Given the description of an element on the screen output the (x, y) to click on. 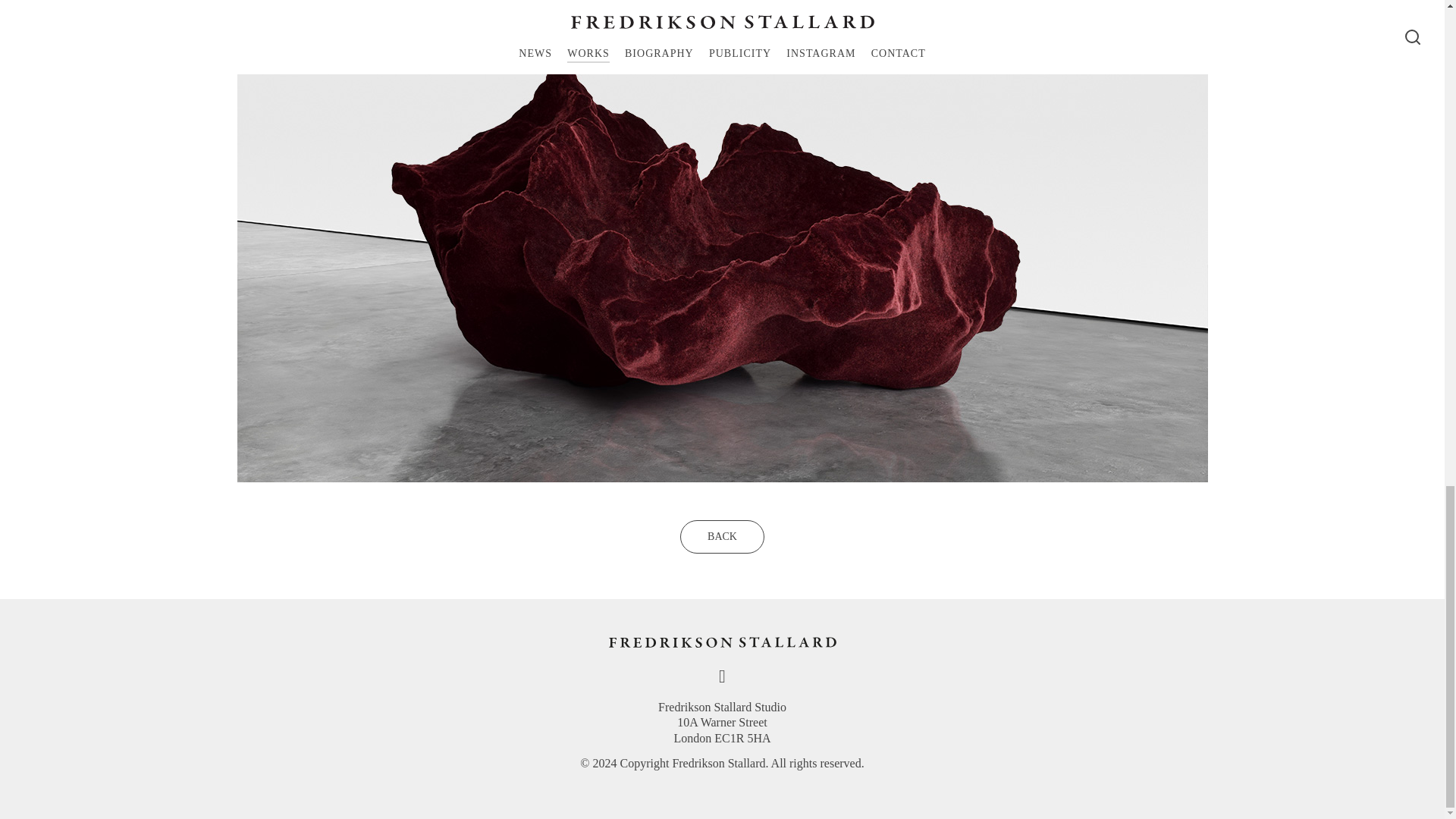
BACK (721, 536)
